Given the description of an element on the screen output the (x, y) to click on. 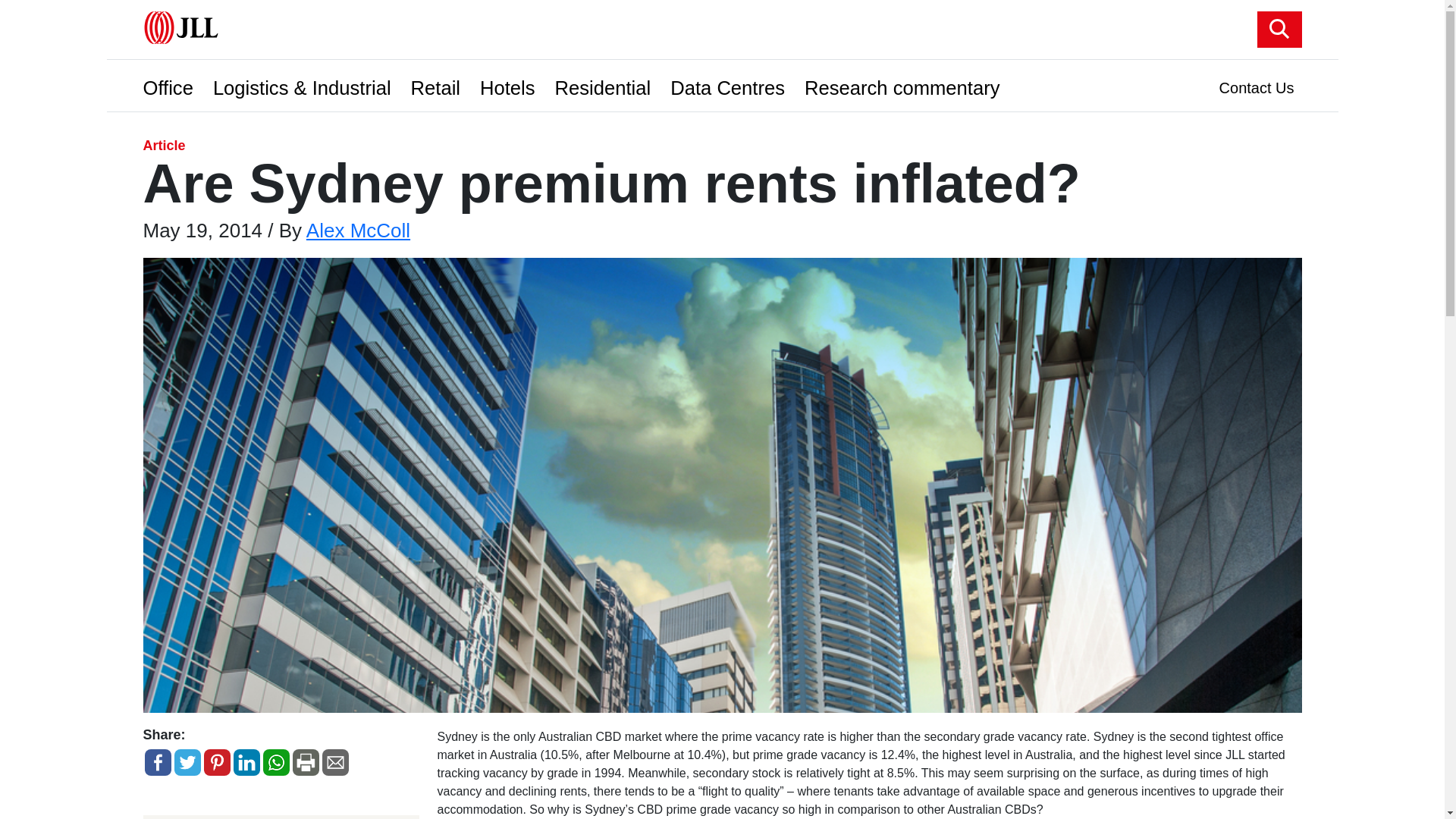
Alex McColl (357, 230)
facebook (156, 762)
Research commentary (906, 83)
whatsapp (274, 762)
linkedin (246, 762)
Hotels (511, 83)
print (305, 762)
Office (171, 83)
Retail (438, 83)
email (334, 762)
